Given the description of an element on the screen output the (x, y) to click on. 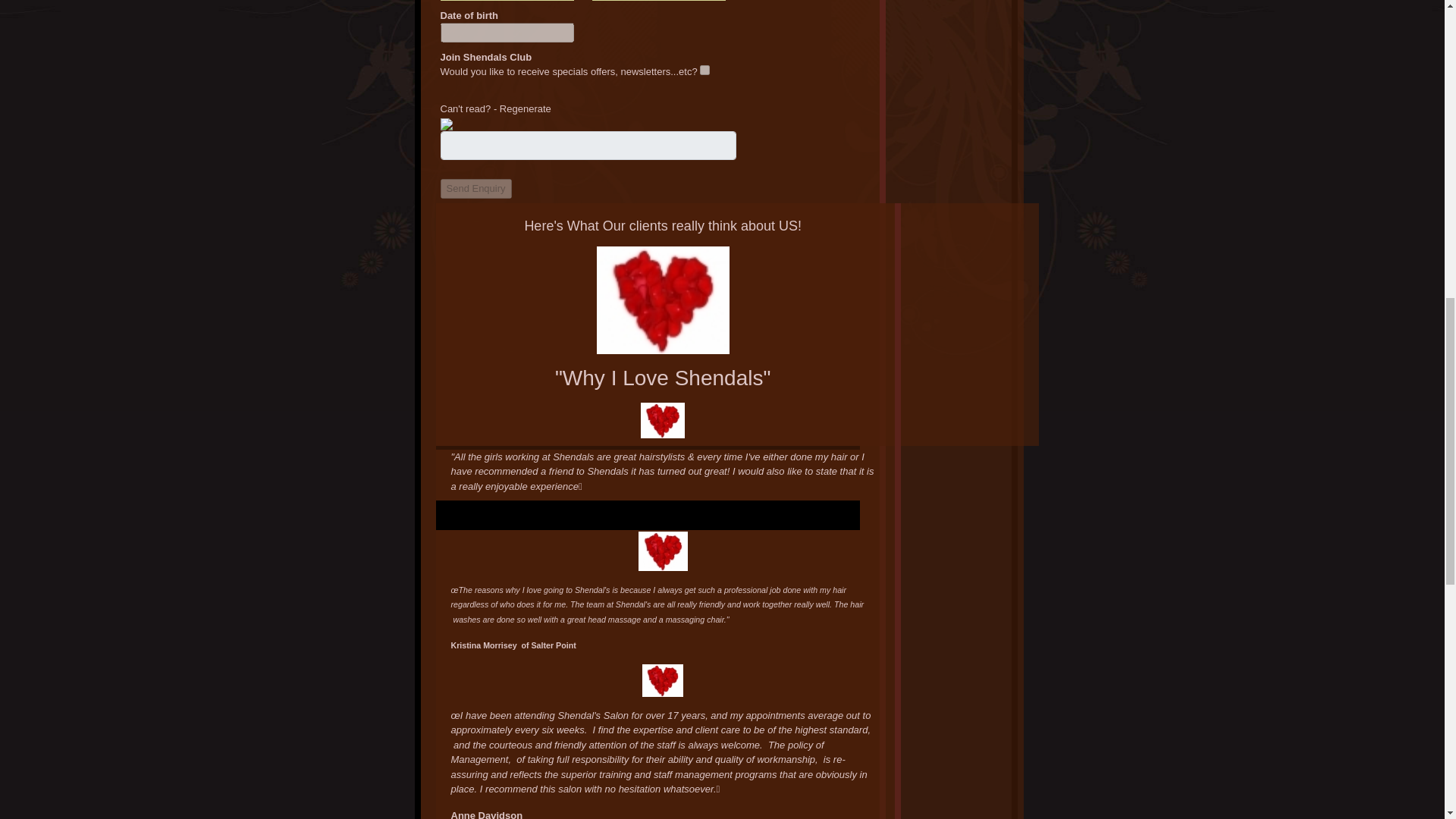
Yes (705, 70)
Send Enquiry (475, 189)
